Given the description of an element on the screen output the (x, y) to click on. 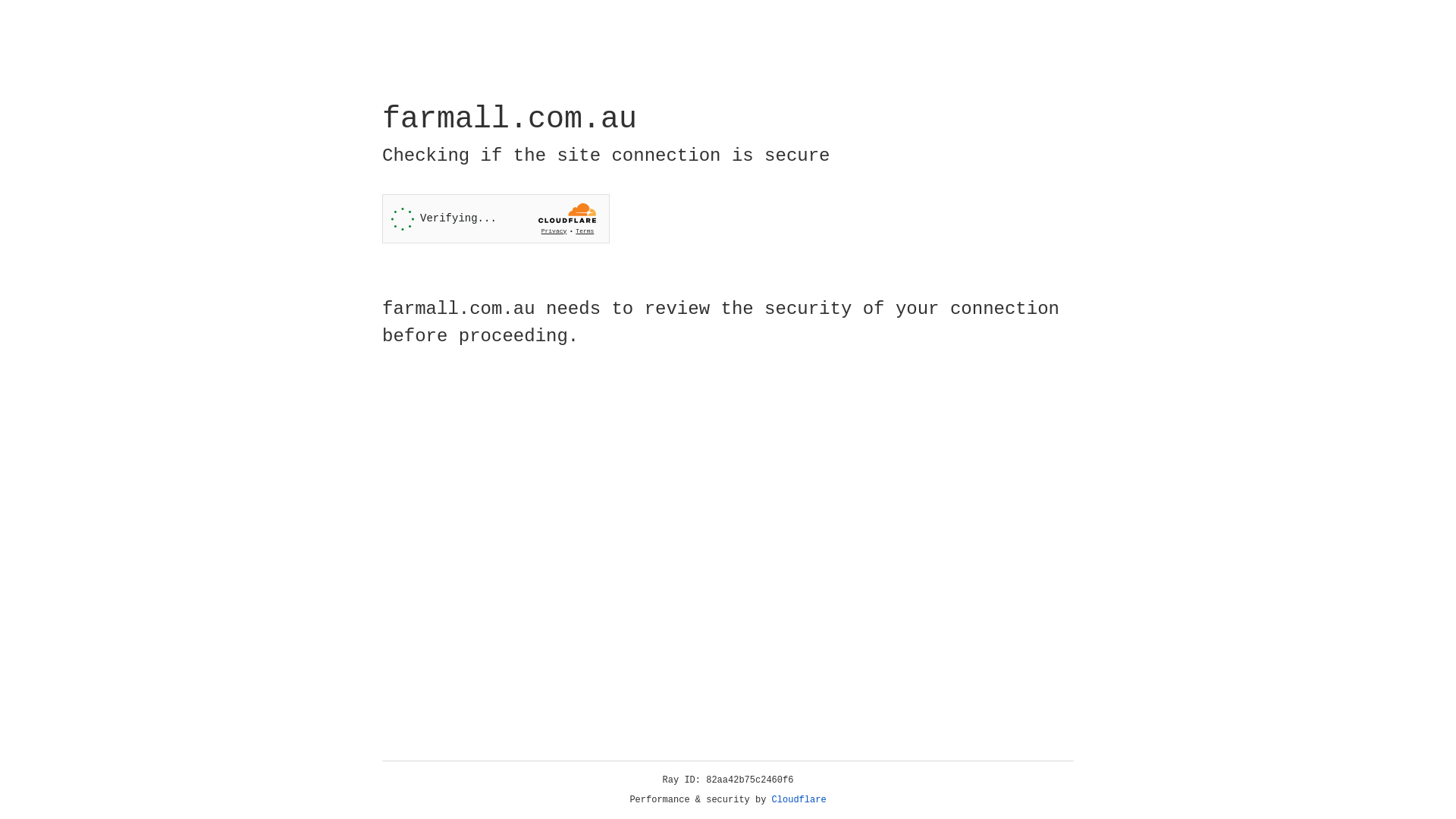
Widget containing a Cloudflare security challenge Element type: hover (495, 218)
Cloudflare Element type: text (798, 799)
